Given the description of an element on the screen output the (x, y) to click on. 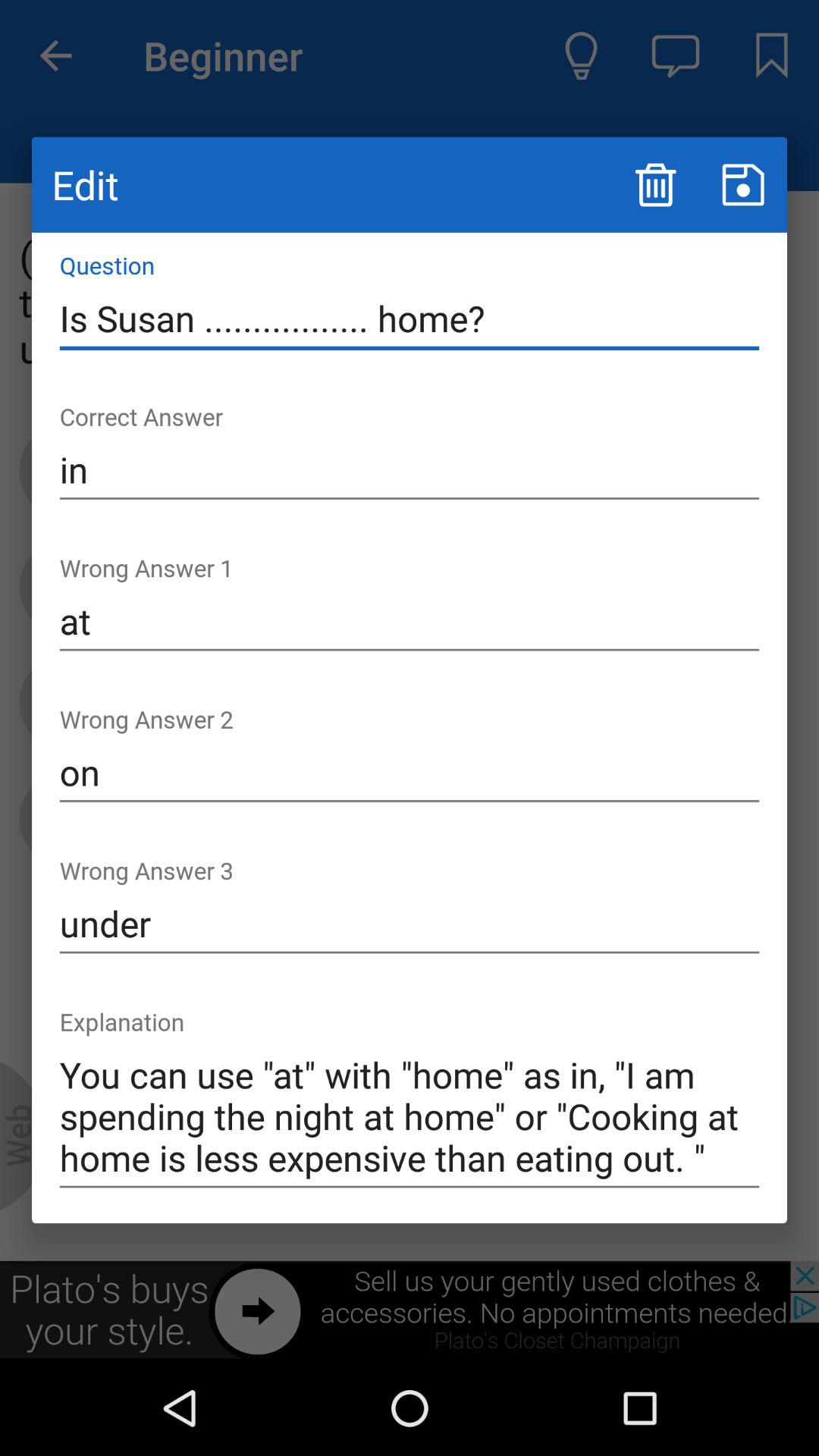
jump until you can use item (409, 1116)
